Given the description of an element on the screen output the (x, y) to click on. 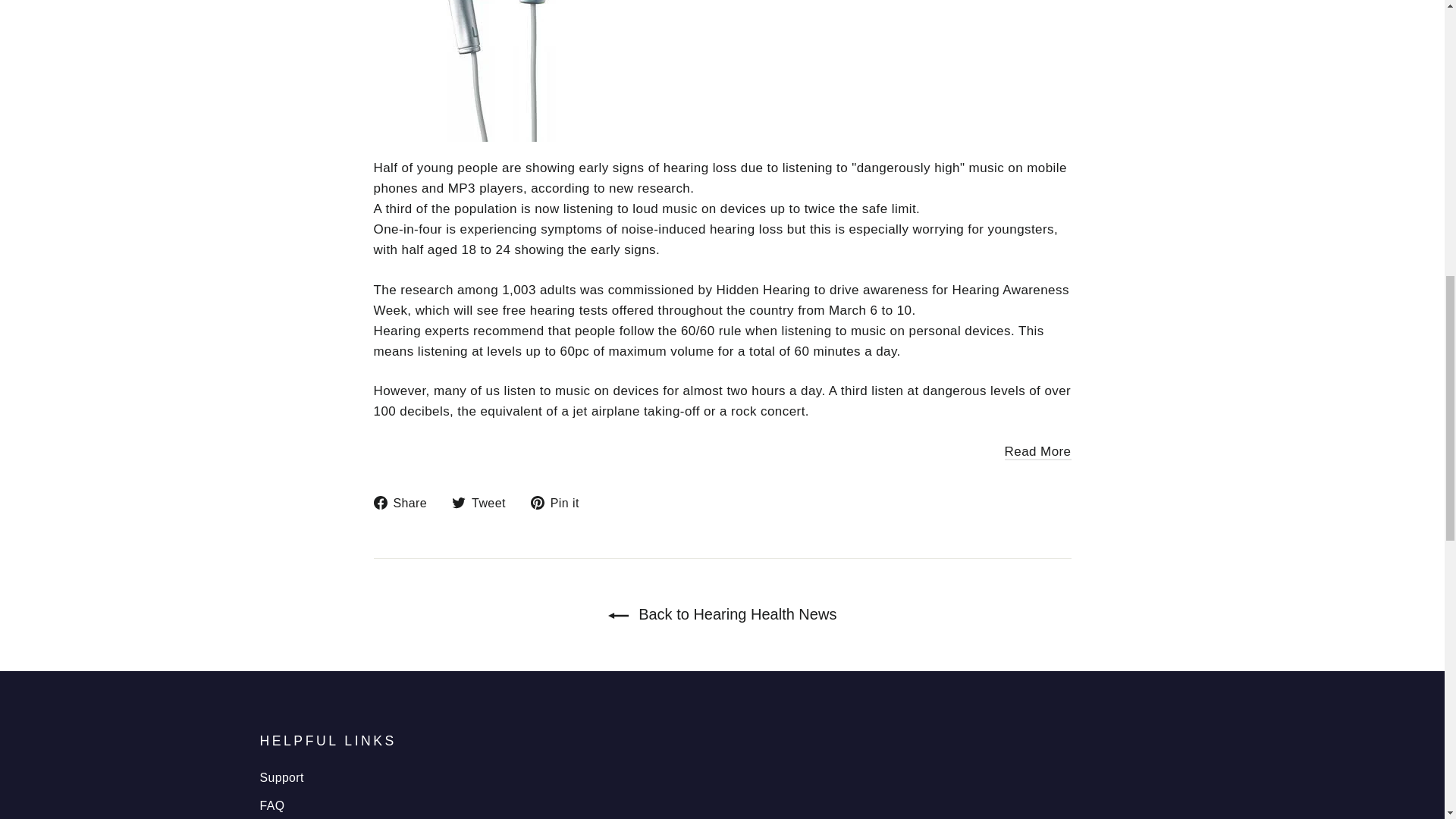
Tweet on Twitter (483, 502)
Pin on Pinterest (561, 502)
Share on Facebook (405, 502)
